Given the description of an element on the screen output the (x, y) to click on. 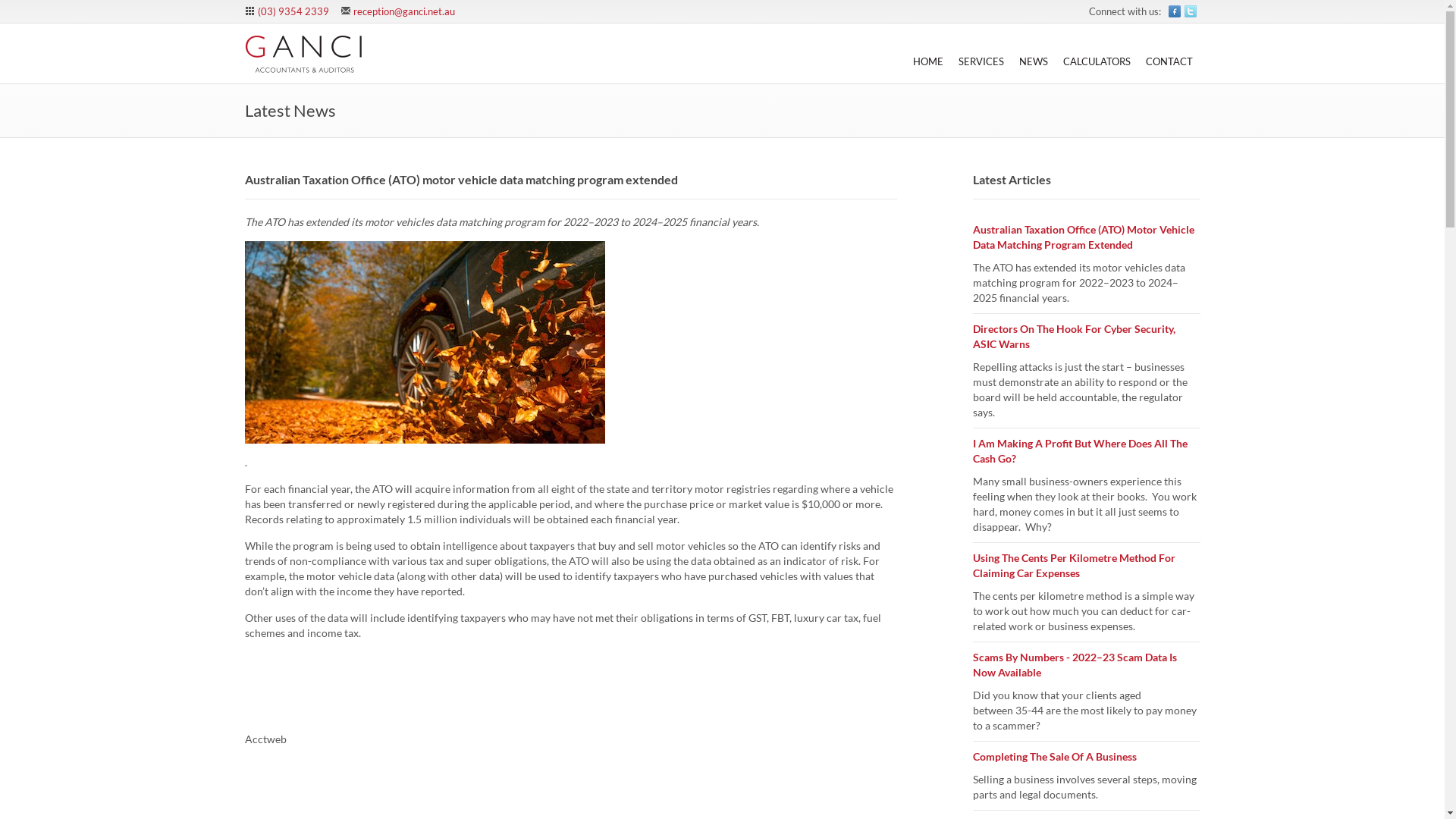
reception@ganci.net.au Element type: text (404, 11)
I Am Making A Profit But Where Does All The Cash Go? Element type: text (1079, 450)
CONTACT Element type: text (1168, 51)
CALCULATORS Element type: text (1096, 51)
Directors On The Hook For Cyber Security, ASIC Warns Element type: text (1073, 336)
Completing The Sale Of A Business Element type: text (1053, 755)
NEWS Element type: text (1033, 51)
HOME Element type: text (927, 51)
(03) 9354 2339 Element type: text (293, 11)
SERVICES Element type: text (980, 51)
